Given the description of an element on the screen output the (x, y) to click on. 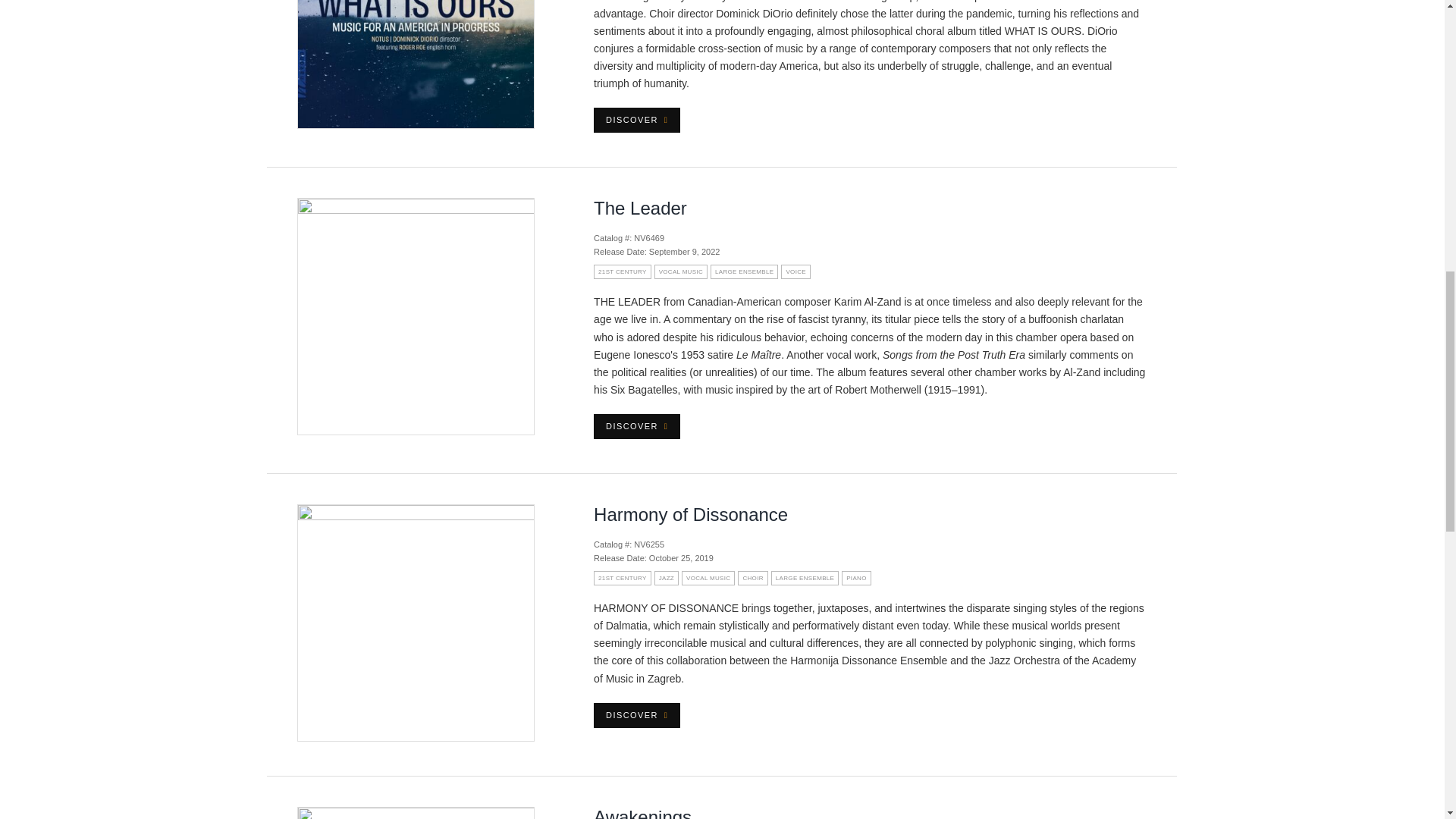
DISCOVER (636, 119)
